Given the description of an element on the screen output the (x, y) to click on. 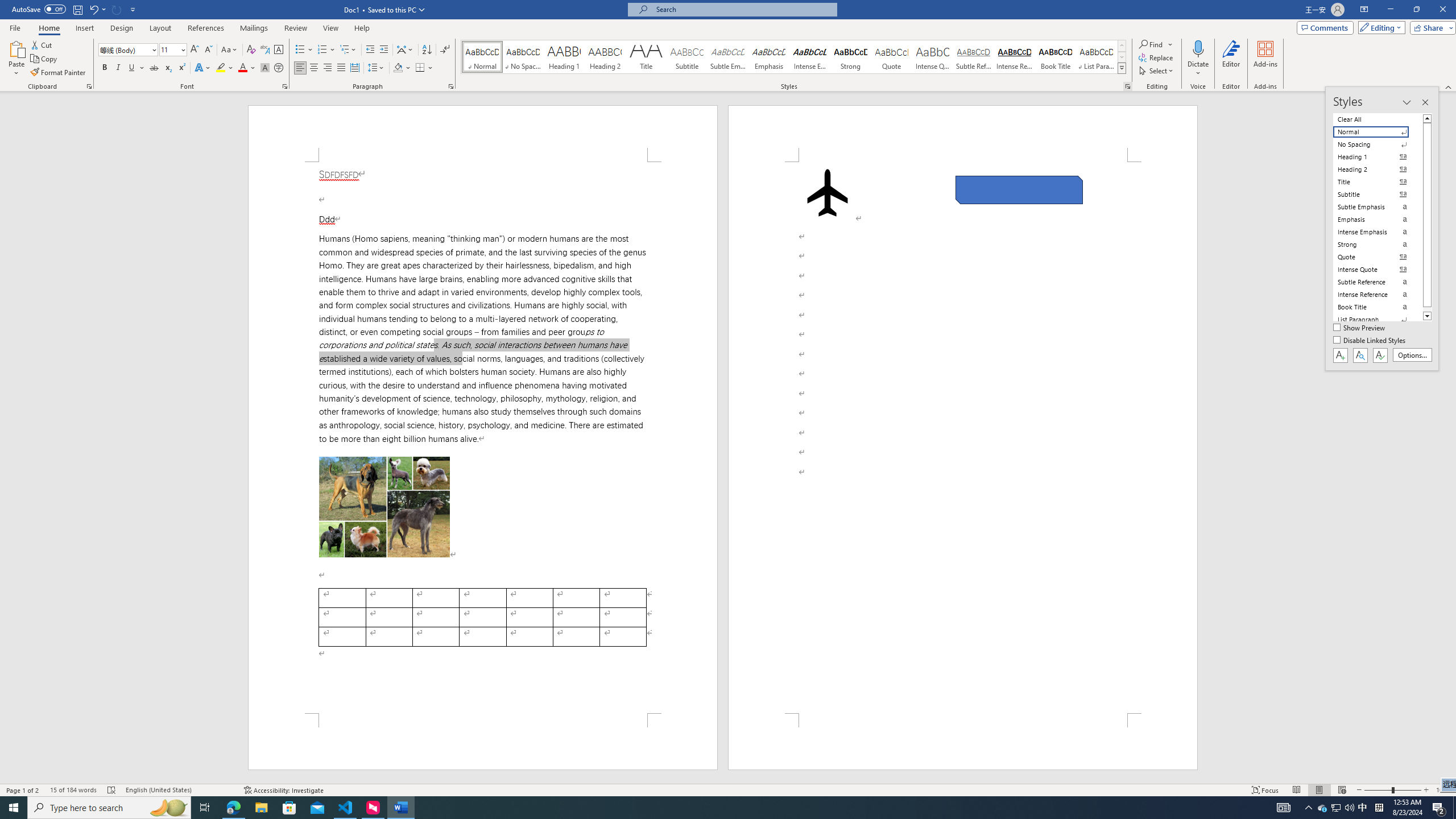
View (330, 28)
Quick Access Toolbar (74, 9)
Shrink Font (208, 49)
Page Number Page 1 of 2 (22, 790)
Rectangle: Diagonal Corners Snipped 2 (1019, 189)
Heading 1 (564, 56)
Editor (1231, 58)
Select (1157, 69)
Underline (131, 67)
Class: NetUIScrollBar (1450, 437)
Can't Repeat (117, 9)
Distributed (354, 67)
Disable Linked Styles (1370, 340)
Font Size (169, 49)
